Given the description of an element on the screen output the (x, y) to click on. 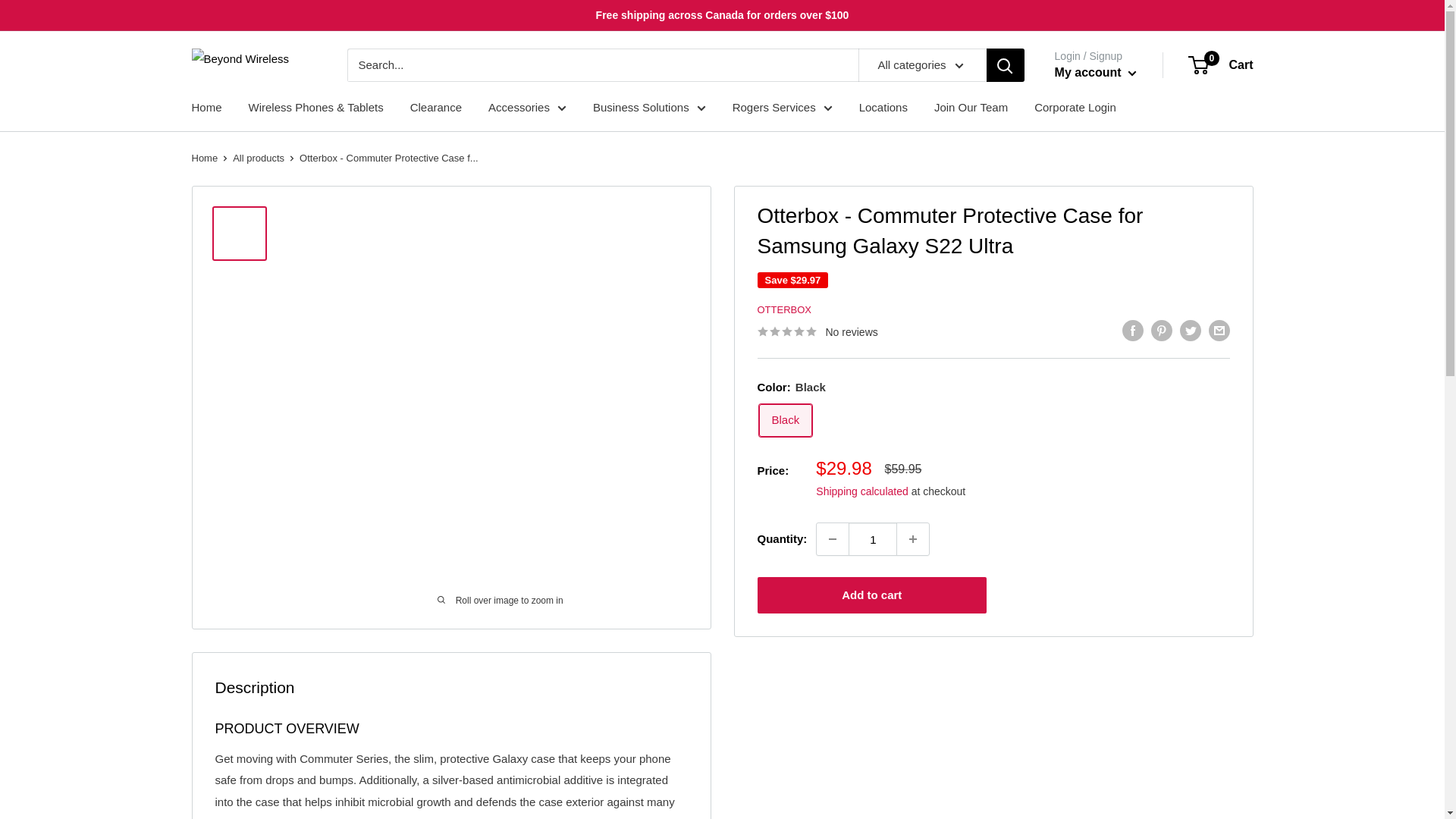
Black (785, 420)
Decrease quantity by 1 (832, 539)
Increase quantity by 1 (912, 539)
1 (872, 539)
